Given the description of an element on the screen output the (x, y) to click on. 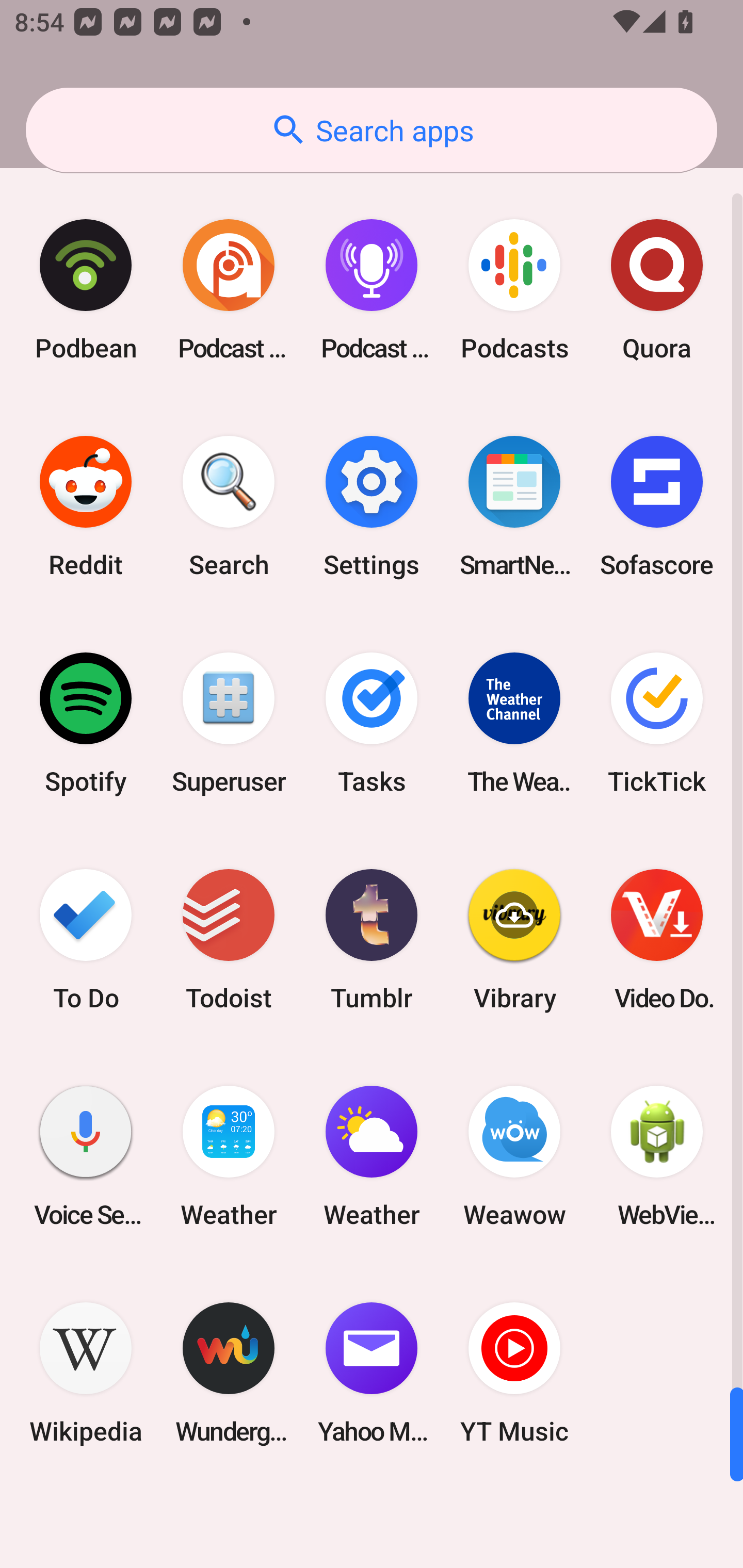
  Search apps (371, 130)
Podbean (85, 289)
Podcast Addict (228, 289)
Podcast Player (371, 289)
Podcasts (514, 289)
Quora (656, 289)
Reddit (85, 506)
Search (228, 506)
Settings (371, 506)
SmartNews (514, 506)
Sofascore (656, 506)
Spotify (85, 722)
Superuser (228, 722)
Tasks (371, 722)
The Weather Channel (514, 722)
TickTick (656, 722)
To Do (85, 939)
Todoist (228, 939)
Tumblr (371, 939)
Vibrary (514, 939)
Video Downloader & Ace Player (656, 939)
Voice Search (85, 1156)
Weather (228, 1156)
Weather (371, 1156)
Weawow (514, 1156)
WebView Browser Tester (656, 1156)
Wikipedia (85, 1373)
Wunderground (228, 1373)
Yahoo Mail (371, 1373)
YT Music (514, 1373)
